Given the description of an element on the screen output the (x, y) to click on. 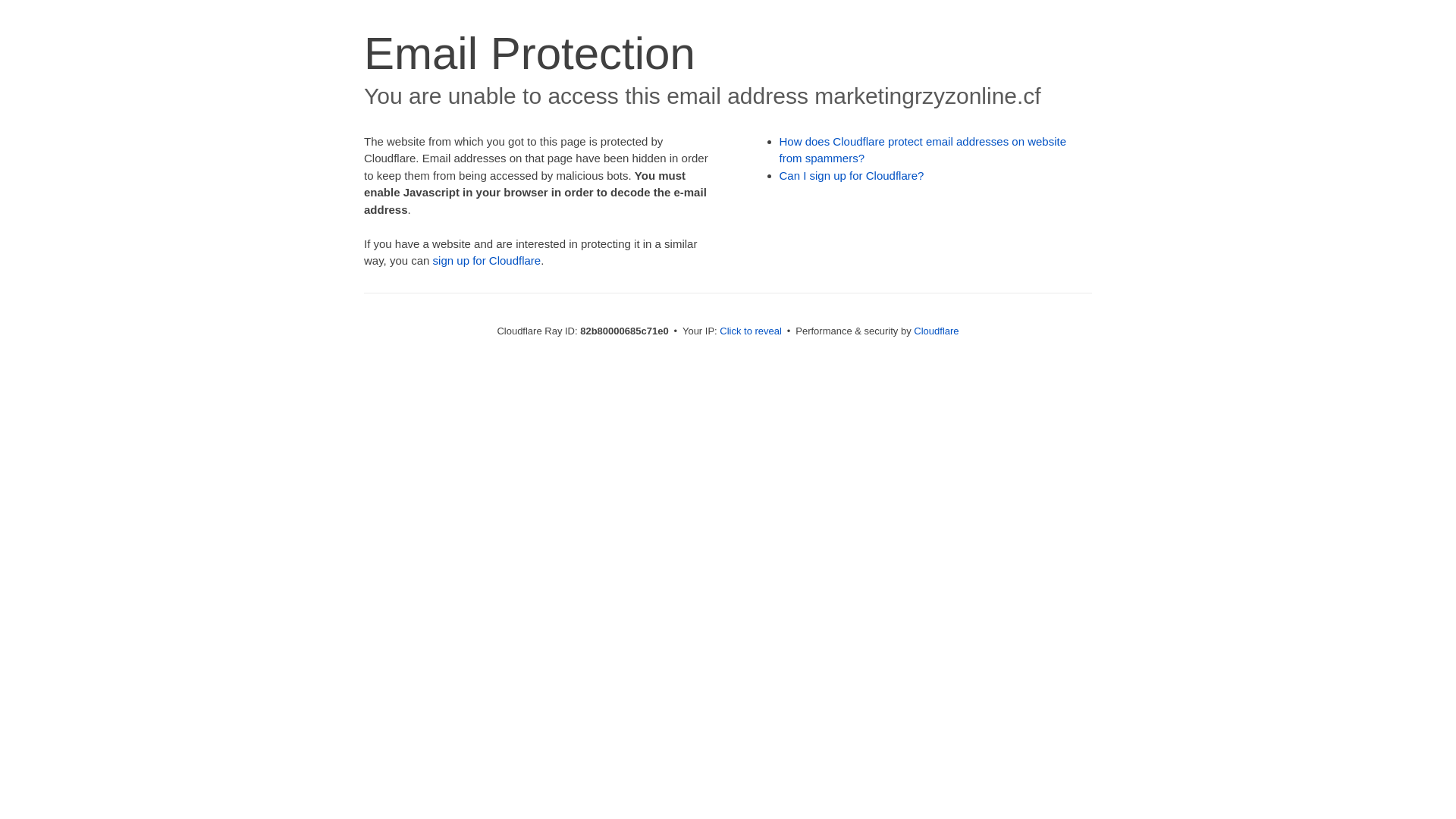
sign up for Cloudflare Element type: text (487, 260)
Can I sign up for Cloudflare? Element type: text (851, 175)
Cloudflare Element type: text (935, 330)
Click to reveal Element type: text (750, 330)
